Given the description of an element on the screen output the (x, y) to click on. 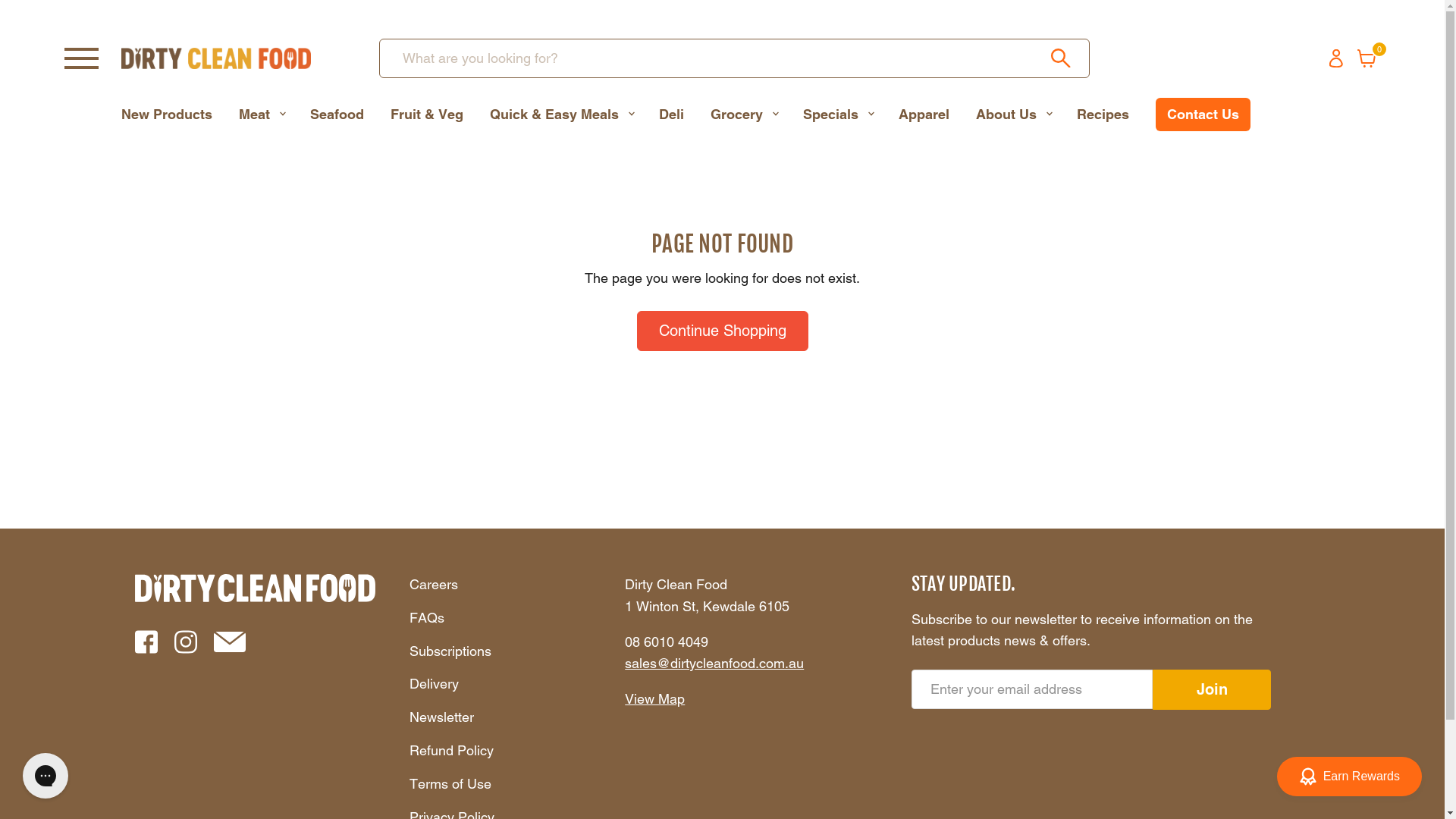
sales@dirtycleanfood.com.au Element type: text (713, 663)
Refund Policy Element type: text (451, 750)
Continue Shopping Element type: text (722, 330)
Earn Rewards Element type: text (1349, 776)
Menu Element type: text (81, 57)
New Products Element type: text (166, 114)
Terms of Use Element type: text (450, 783)
View cart Element type: text (1366, 58)
Gorgias live chat messenger Element type: hover (45, 775)
Delivery Element type: text (433, 683)
Contact Us Element type: text (1202, 114)
Fruit & Veg Element type: text (426, 114)
Apparel Element type: text (923, 114)
Recipes Element type: text (1102, 114)
FAQs Element type: text (426, 617)
Join Element type: text (1211, 689)
Seafood Element type: text (336, 114)
Subscriptions Element type: text (450, 650)
Deli Element type: text (671, 114)
Careers Element type: text (433, 584)
View Map Element type: text (654, 698)
Newsletter Element type: text (441, 716)
